Given the description of an element on the screen output the (x, y) to click on. 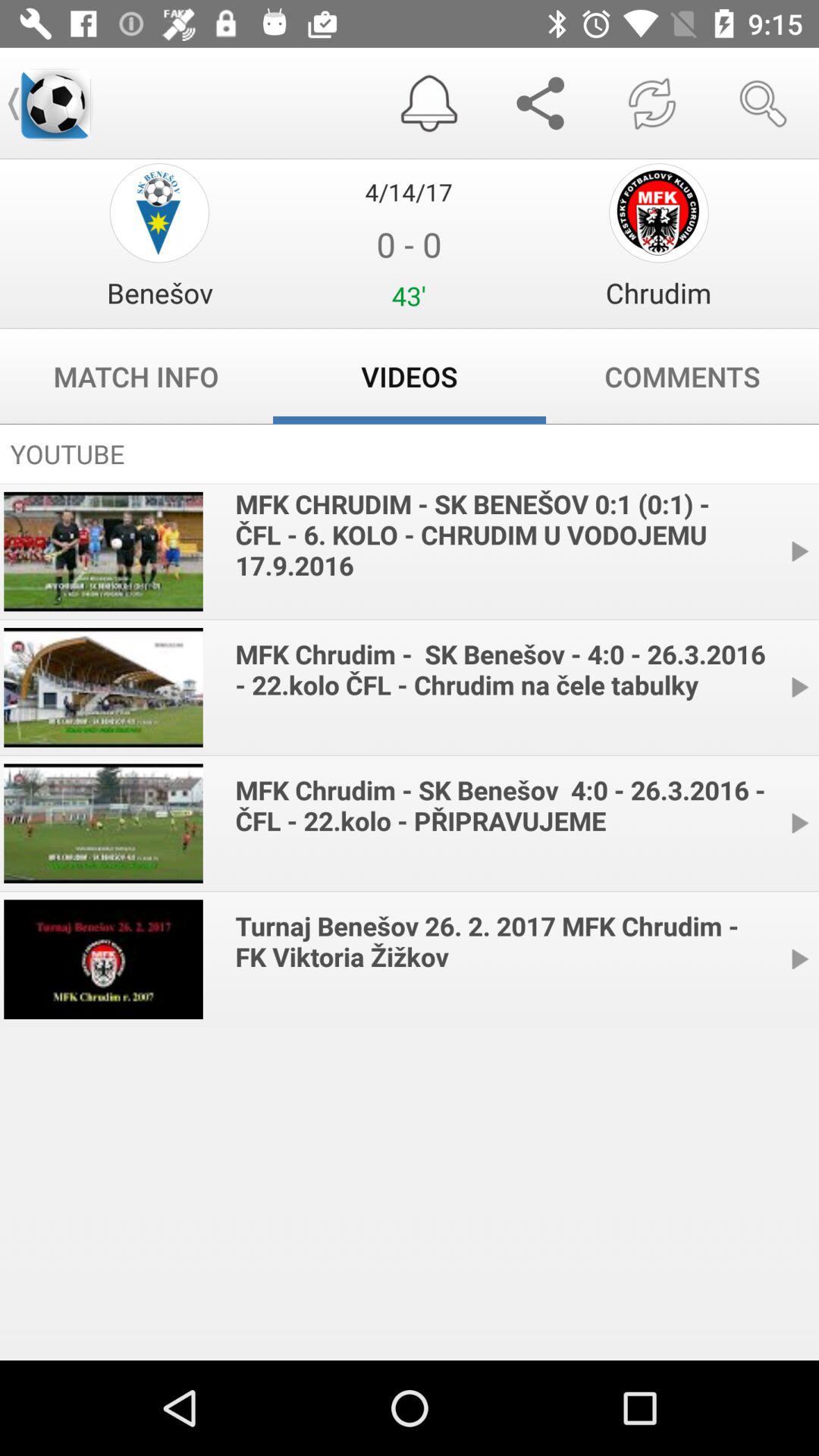
turn on item below the 4/14/17 (159, 292)
